Given the description of an element on the screen output the (x, y) to click on. 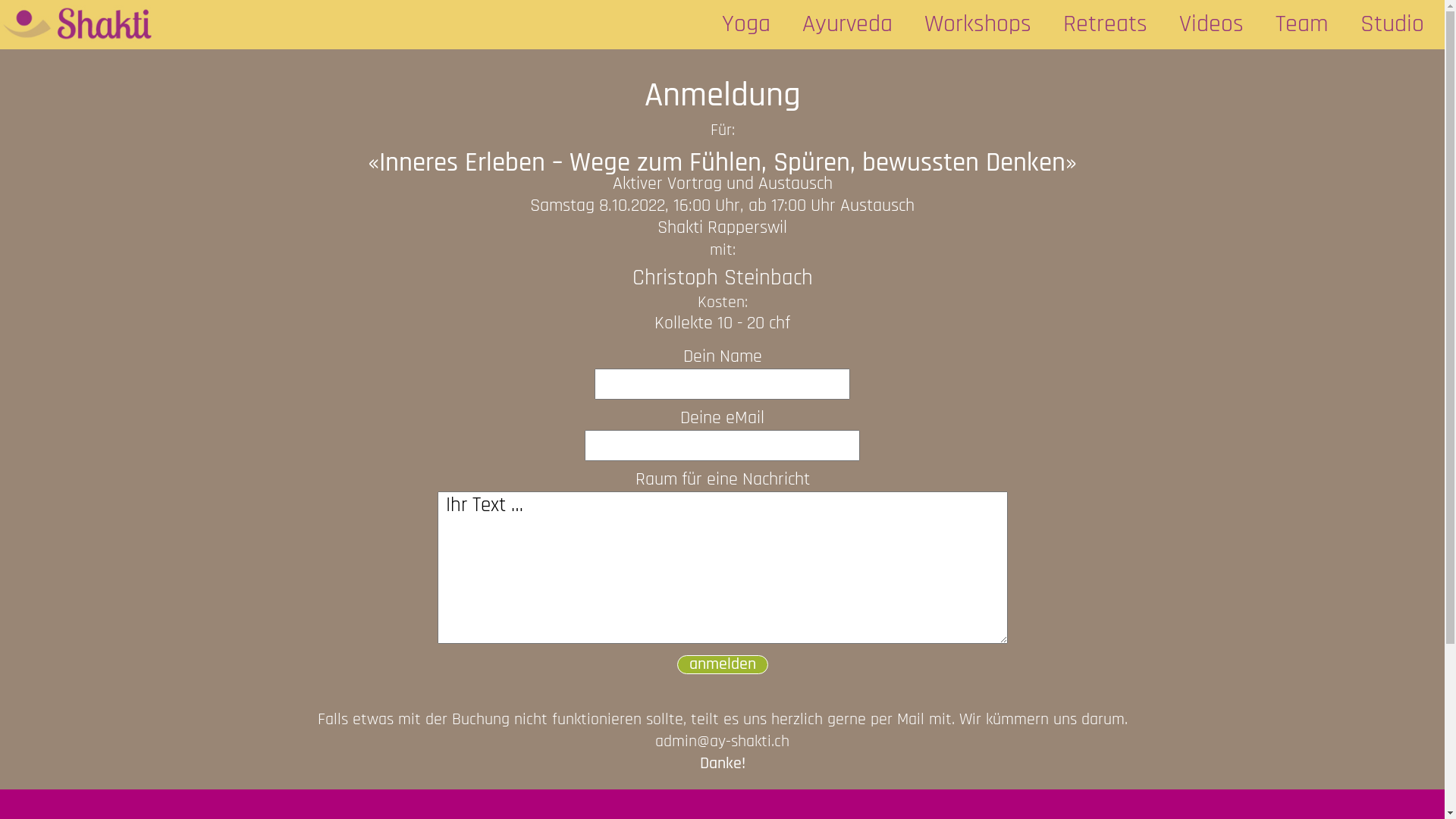
Retreats Element type: text (1105, 24)
Christoph Steinbach Element type: text (722, 278)
anmelden Element type: text (721, 664)
Videos Element type: text (1211, 24)
admin@ay-shakti.ch Element type: text (722, 741)
Workshops Element type: text (977, 24)
Ayurveda Element type: text (847, 24)
Yoga Element type: text (745, 24)
Studio Element type: text (1392, 24)
Team Element type: text (1301, 24)
